Given the description of an element on the screen output the (x, y) to click on. 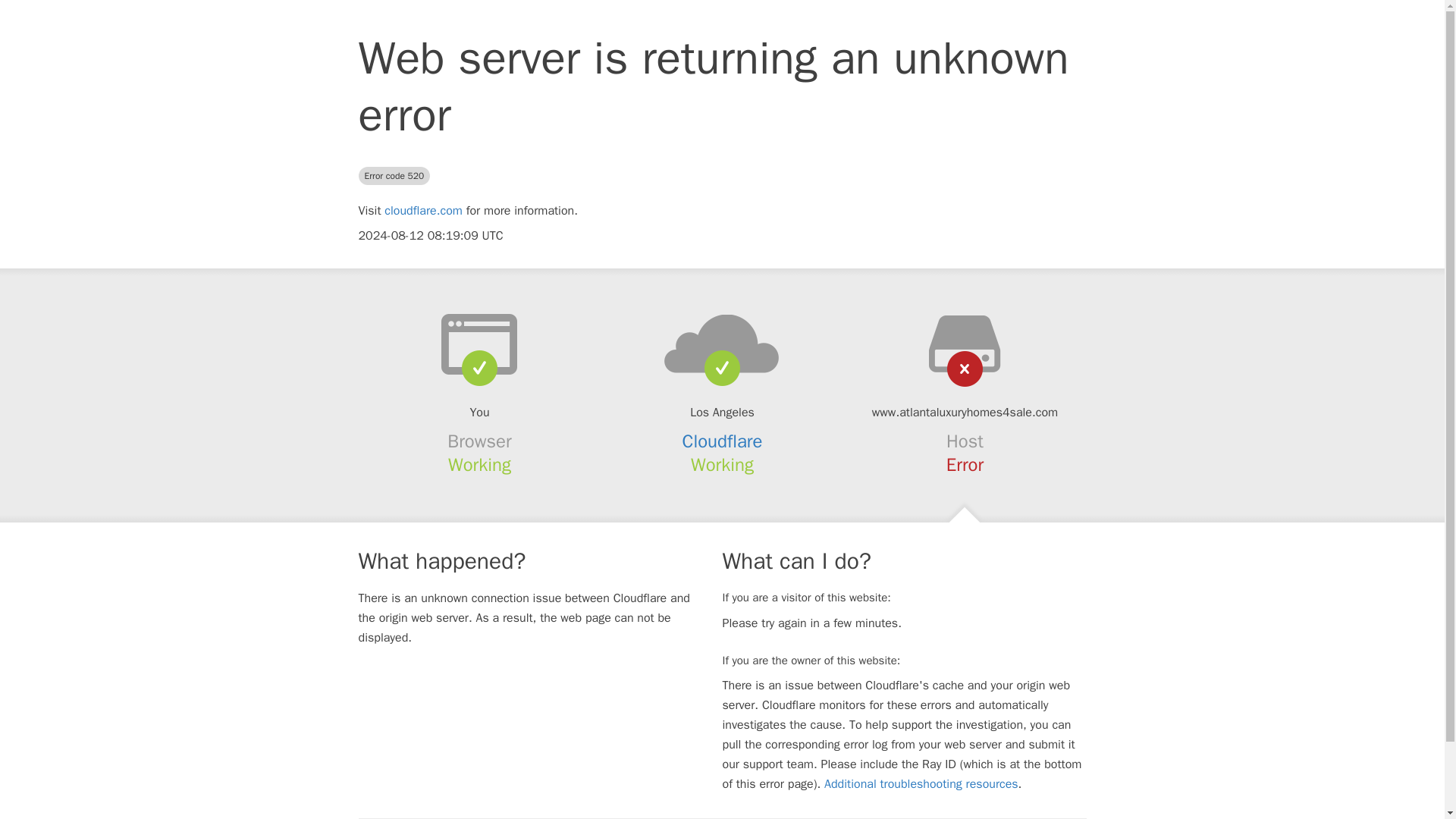
cloudflare.com (423, 210)
Additional troubleshooting resources (920, 783)
Cloudflare (722, 440)
